Given the description of an element on the screen output the (x, y) to click on. 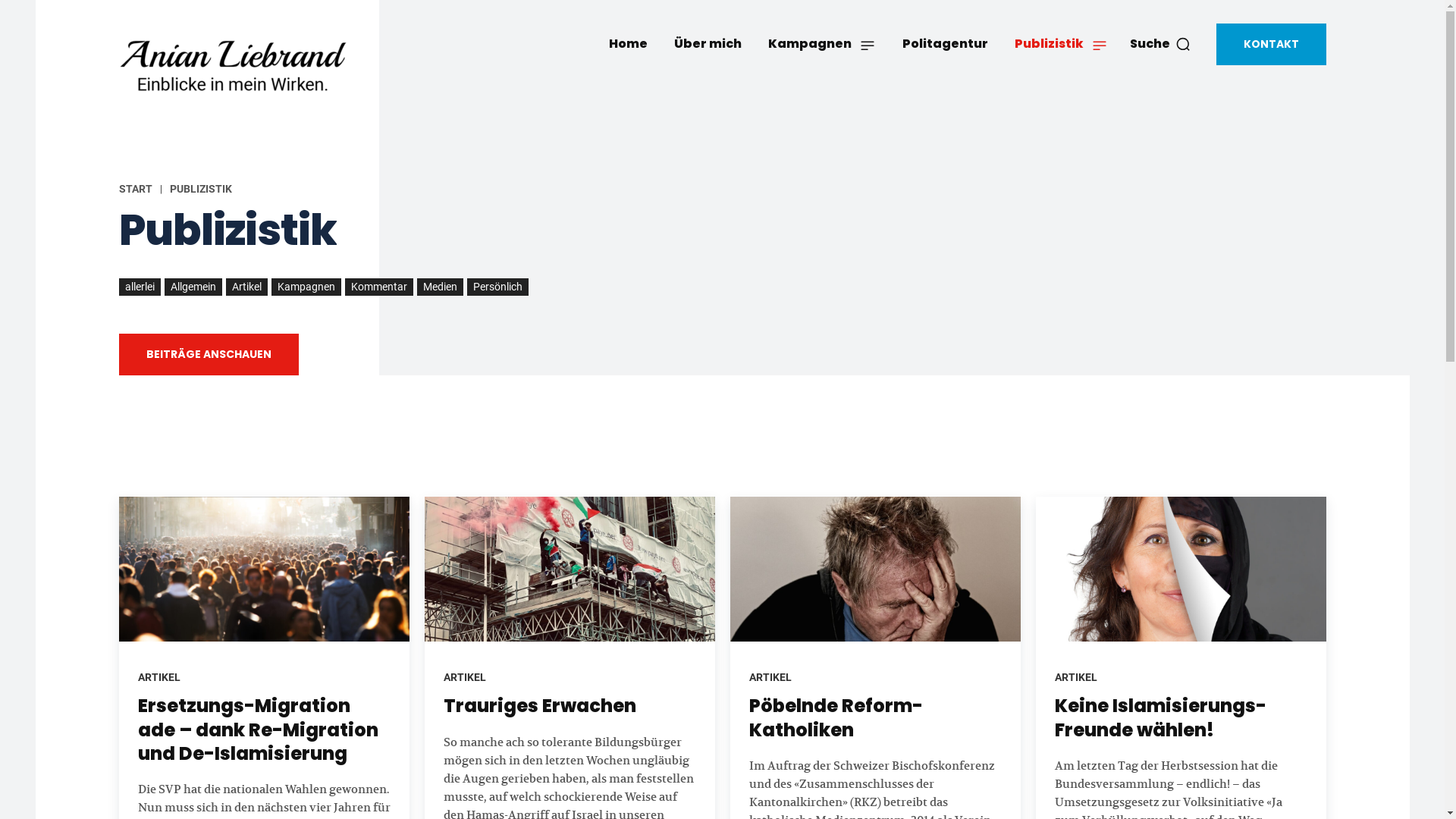
Politagentur Element type: text (944, 43)
Suche Element type: text (1160, 43)
Einblicke in mein Wirken Element type: hover (231, 65)
ARTIKEL Element type: text (1075, 676)
Allgemein Element type: text (192, 286)
Publizistik Element type: text (1060, 43)
ARTIKEL Element type: text (463, 676)
ARTIKEL Element type: text (159, 676)
Einblicke in mein Wirken Element type: hover (255, 65)
Trauriges Erwachen Element type: text (538, 705)
Kommentar Element type: text (378, 286)
KONTAKT Element type: text (1271, 44)
Kampagnen Element type: text (306, 286)
Home Element type: text (628, 43)
Medien Element type: text (440, 286)
allerlei Element type: text (139, 286)
Artikel Element type: text (246, 286)
ARTIKEL Element type: text (770, 676)
START Element type: text (134, 188)
Kampagnen Element type: text (821, 43)
Trauriges Erwachen Element type: hover (569, 569)
